Given the description of an element on the screen output the (x, y) to click on. 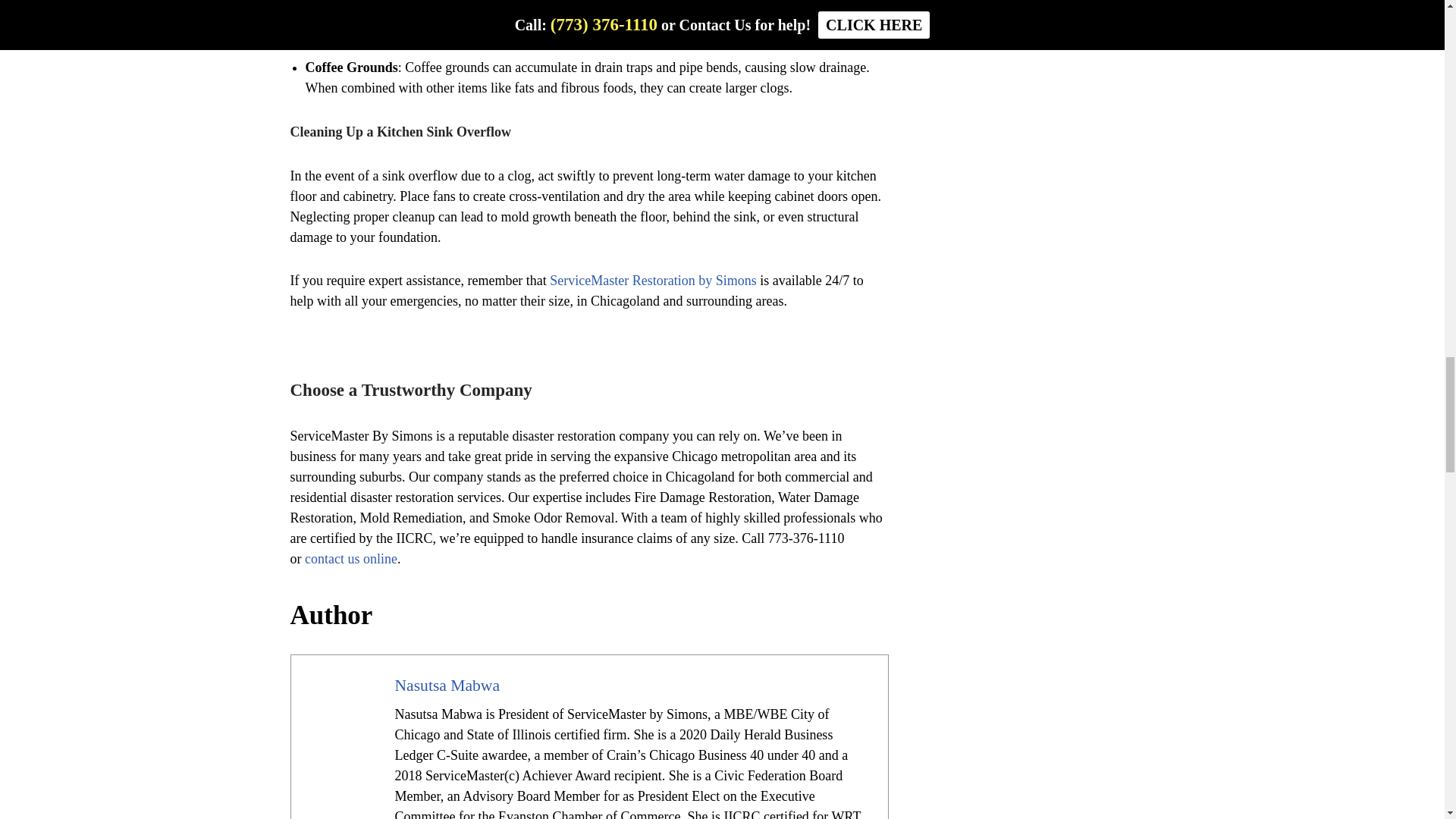
Nasutsa Mabwa (446, 685)
